Given the description of an element on the screen output the (x, y) to click on. 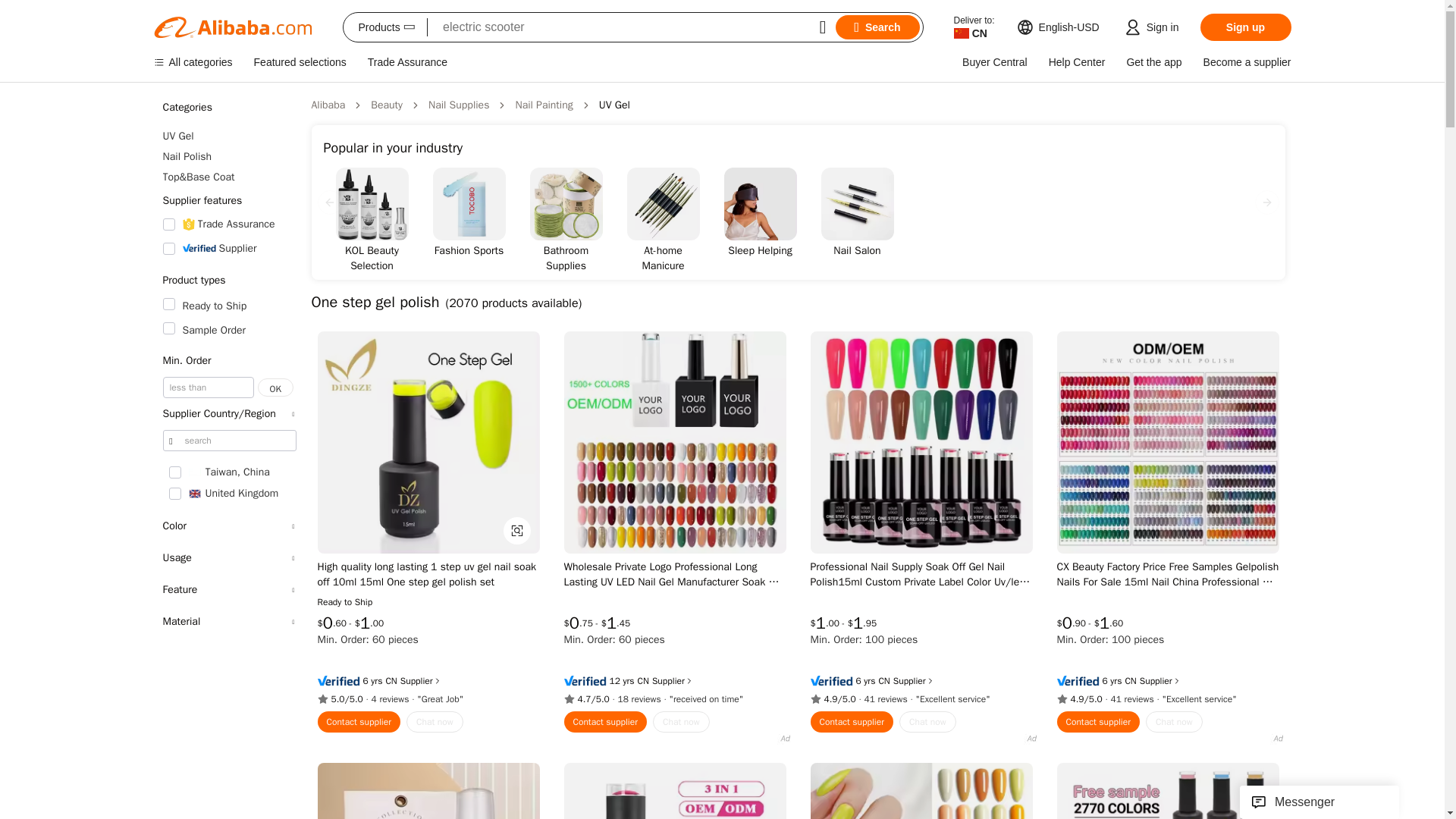
Categories (228, 107)
UV Gel (228, 135)
Nail Polish (228, 156)
